Given the description of an element on the screen output the (x, y) to click on. 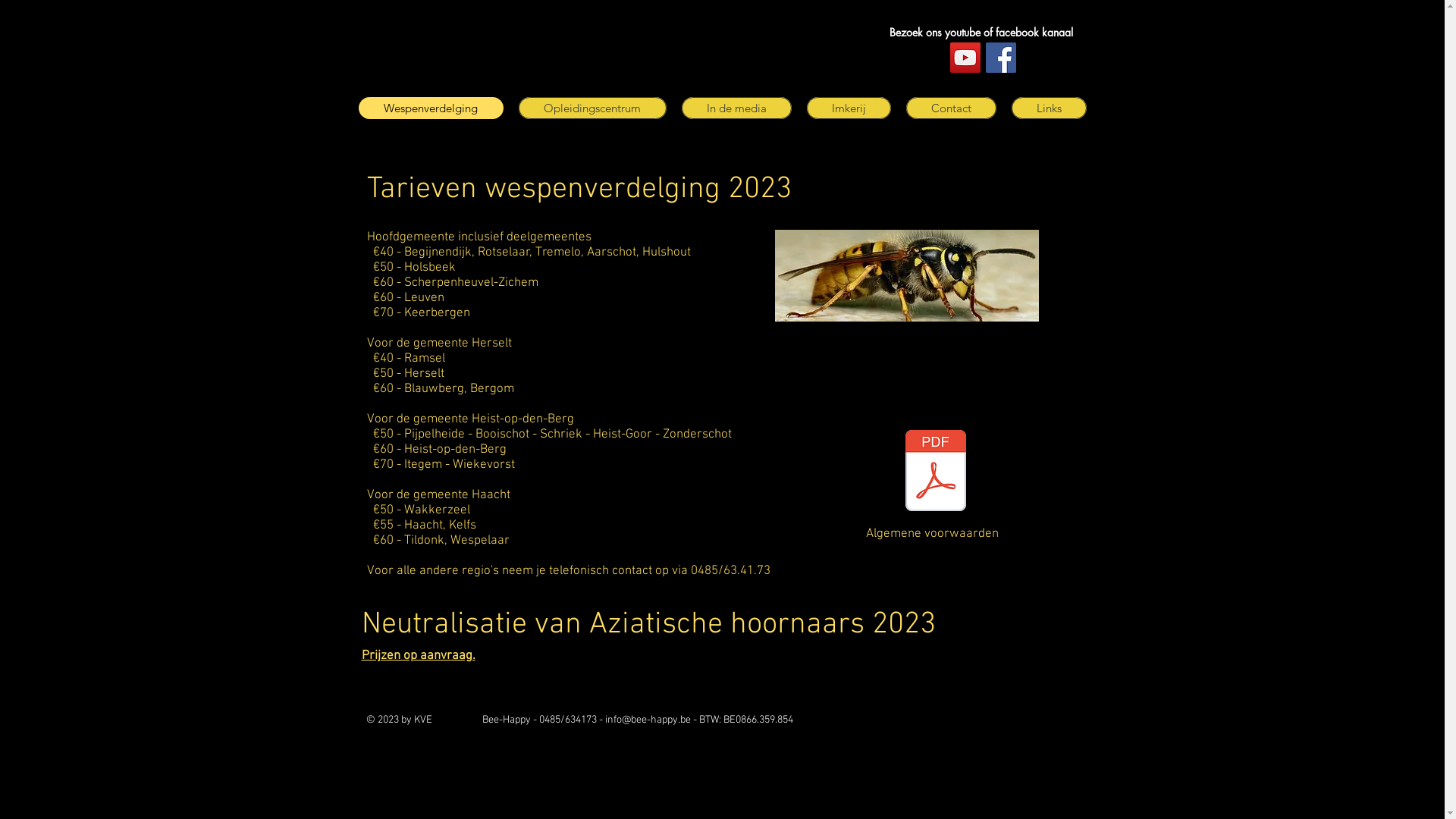
Algemene voorwaarden Bee-Happy.pdf Element type: hover (934, 472)
Imkerij Element type: text (848, 108)
Wespenverdelging Element type: text (429, 108)
In de media Element type: text (735, 108)
info@bee-happy.be Element type: text (647, 719)
Contact Element type: text (950, 108)
Opleidingscentrum Element type: text (592, 108)
Links Element type: text (1048, 108)
